Given the description of an element on the screen output the (x, y) to click on. 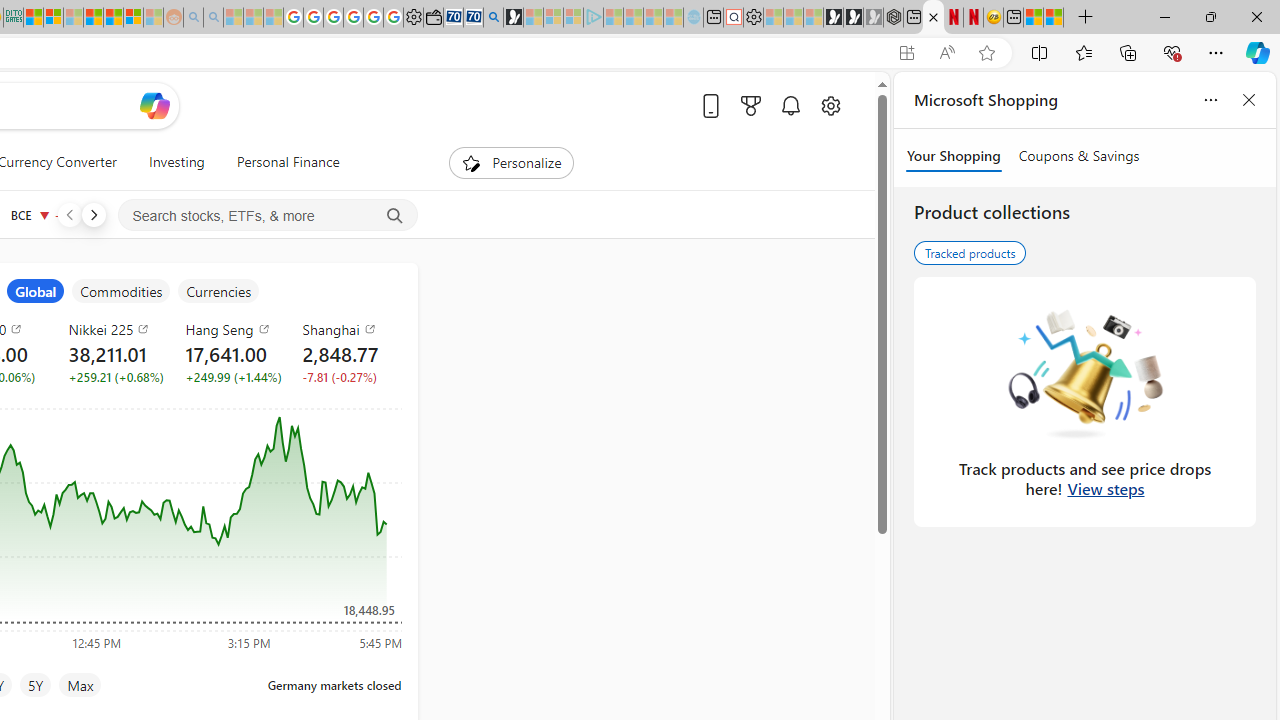
App available. Install Start Money (906, 53)
5Y (35, 684)
Expert Portfolios (93, 17)
Notifications (790, 105)
Home | Sky Blue Bikes - Sky Blue Bikes - Sleeping (692, 17)
Max (80, 684)
Previous (69, 214)
Hang Seng HSI increase 17,641.00 +249.99 +1.44% (228, 351)
